Given the description of an element on the screen output the (x, y) to click on. 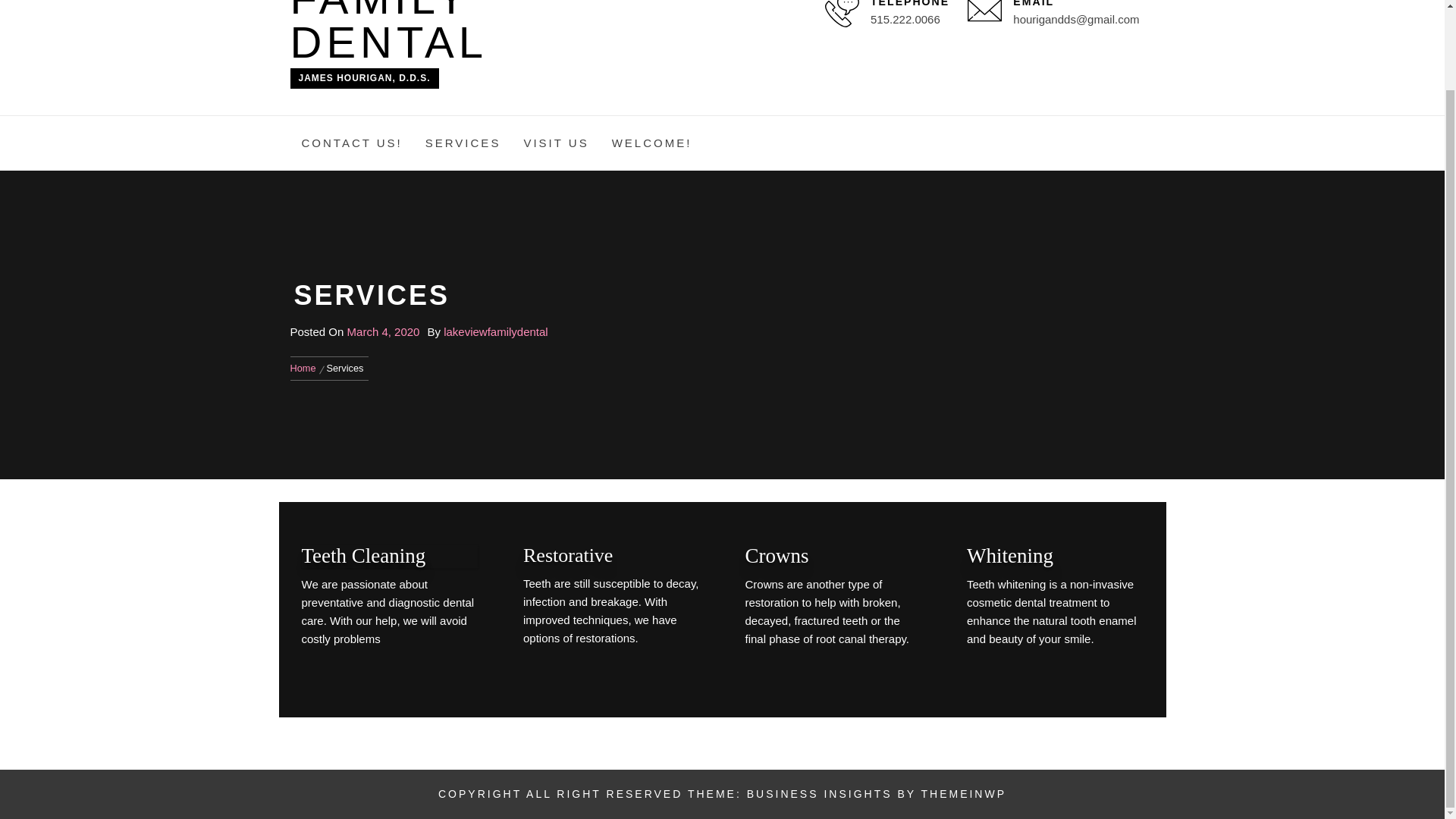
LAKEVIEW FAMILY DENTAL (420, 33)
515.222.0066 (905, 19)
Services (345, 367)
Search (797, 311)
VISIT US (555, 143)
WELCOME! (651, 143)
CONTACT US! (351, 143)
March 4, 2020 (383, 331)
Home (304, 367)
THEMEINWP (963, 793)
